Given the description of an element on the screen output the (x, y) to click on. 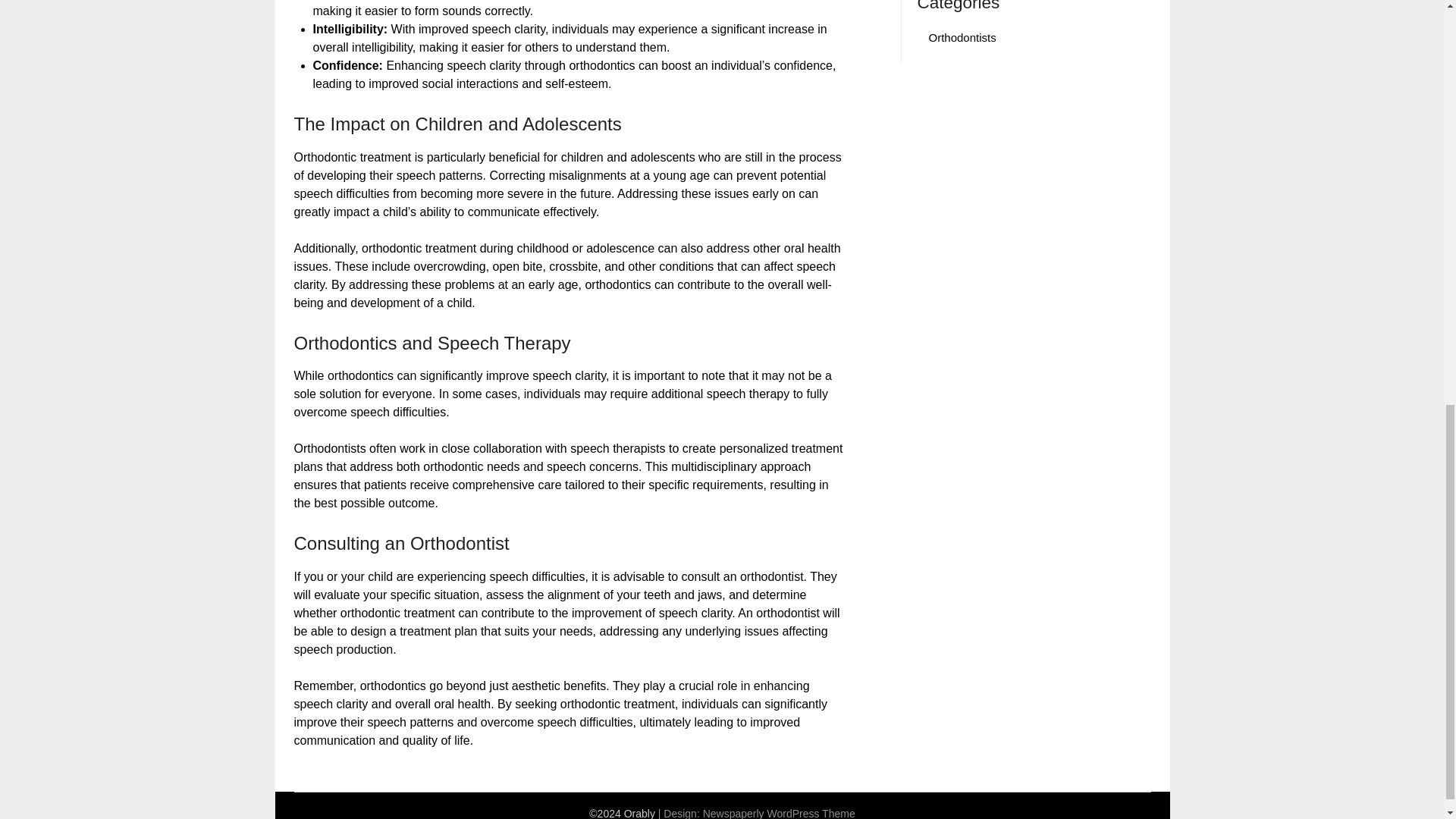
Orthodontists (961, 37)
Newspaperly WordPress Theme (779, 813)
